Given the description of an element on the screen output the (x, y) to click on. 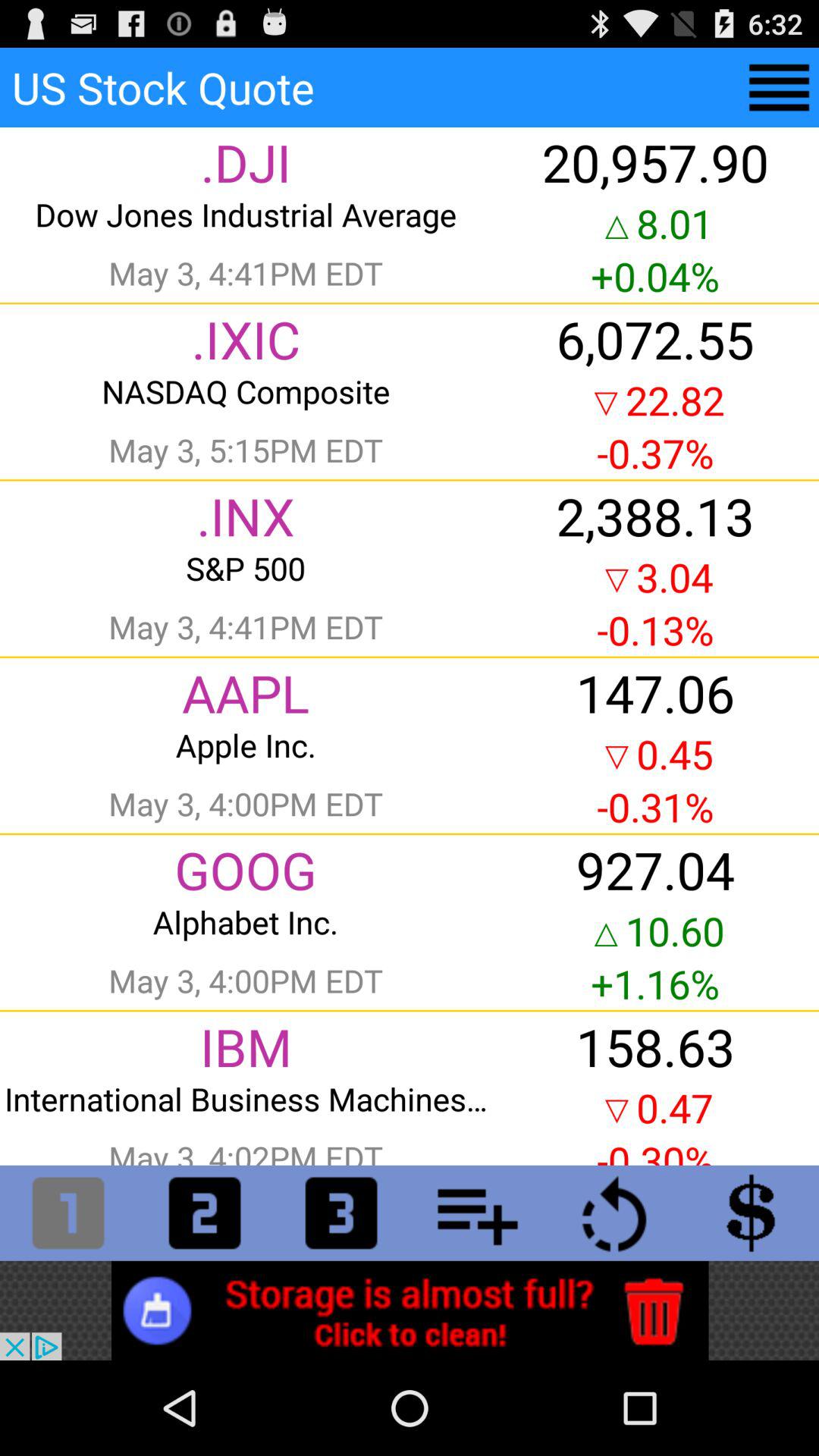
show page 1 (68, 1212)
